Given the description of an element on the screen output the (x, y) to click on. 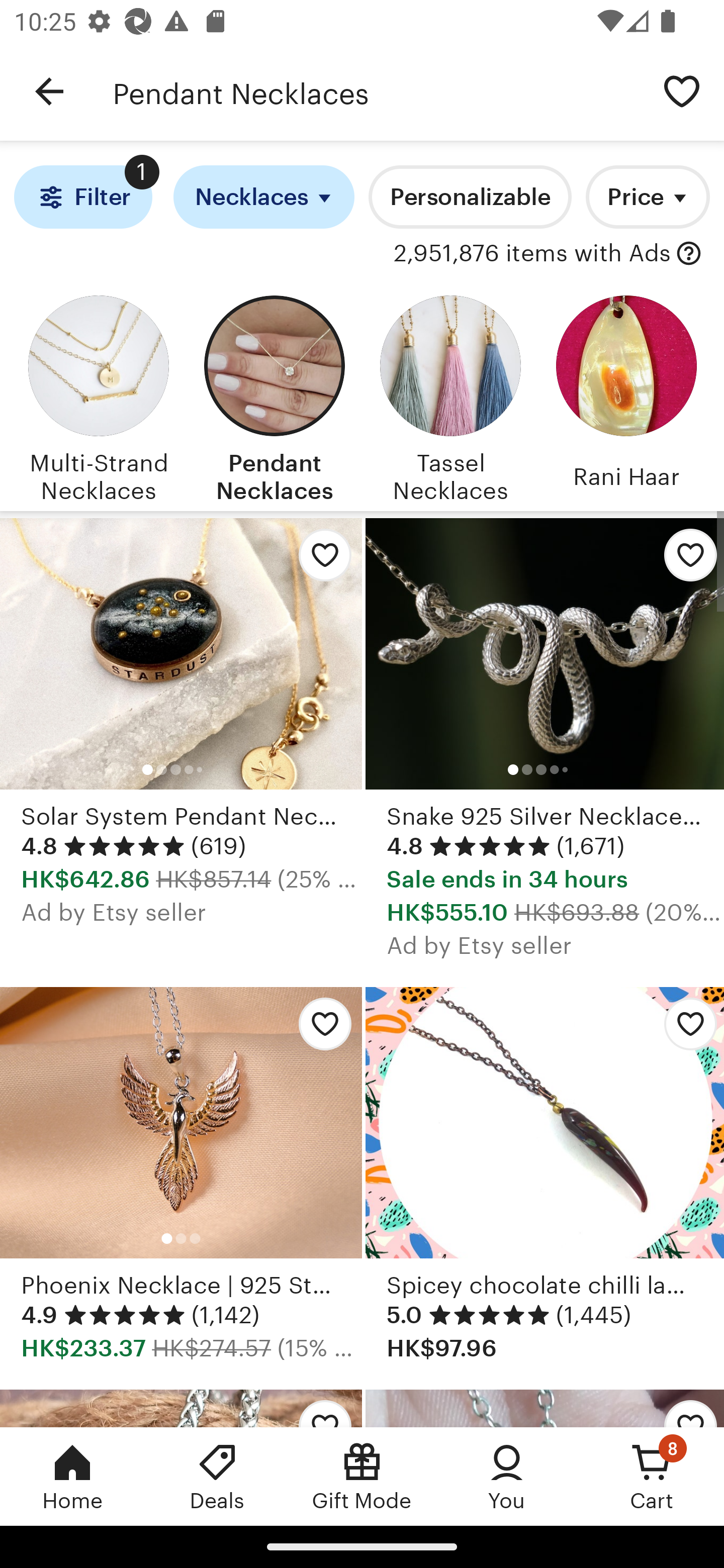
Navigate up (49, 91)
Save search (681, 90)
Pendant Necklaces (375, 91)
Filter (82, 197)
Necklaces (263, 197)
Personalizable (469, 197)
Price (647, 197)
2,951,876 items with Ads (532, 253)
with Ads (688, 253)
Multi-Strand Necklaces (97, 395)
Pendant Necklaces (273, 395)
Tassel Necklaces (449, 395)
Rani Haar (625, 395)
Add Garnet pendant to favorites (683, 1407)
Deals (216, 1475)
Gift Mode (361, 1475)
You (506, 1475)
Cart, 8 new notifications Cart (651, 1475)
